Given the description of an element on the screen output the (x, y) to click on. 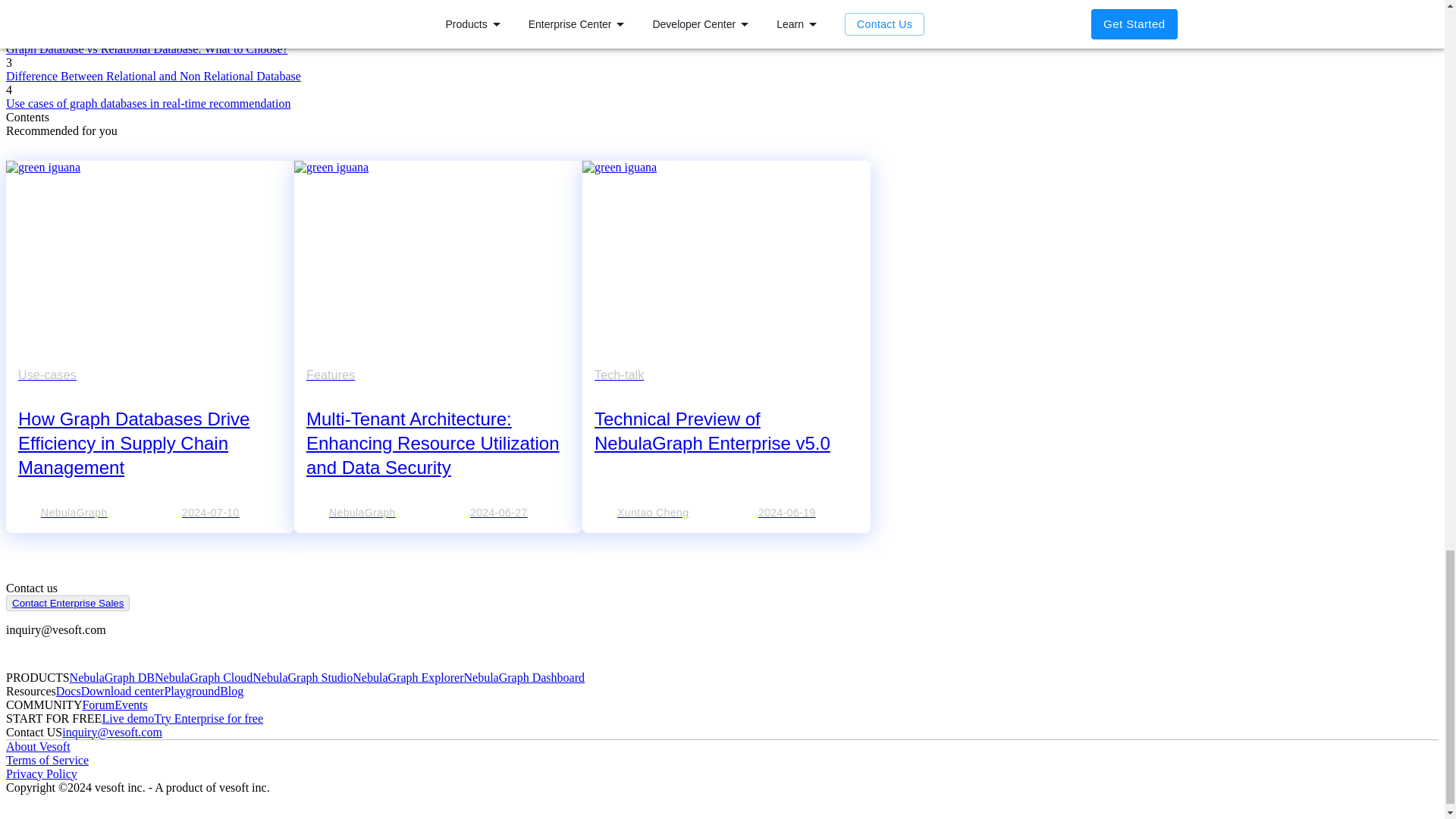
Graph Database vs Relational Database: What to Choose? (146, 48)
2024-07-10 (220, 512)
Difference Between Relational and Non Relational Database (153, 75)
Use cases of graph databases in real-time recommendation (147, 103)
NebulaGraph (79, 512)
